Given the description of an element on the screen output the (x, y) to click on. 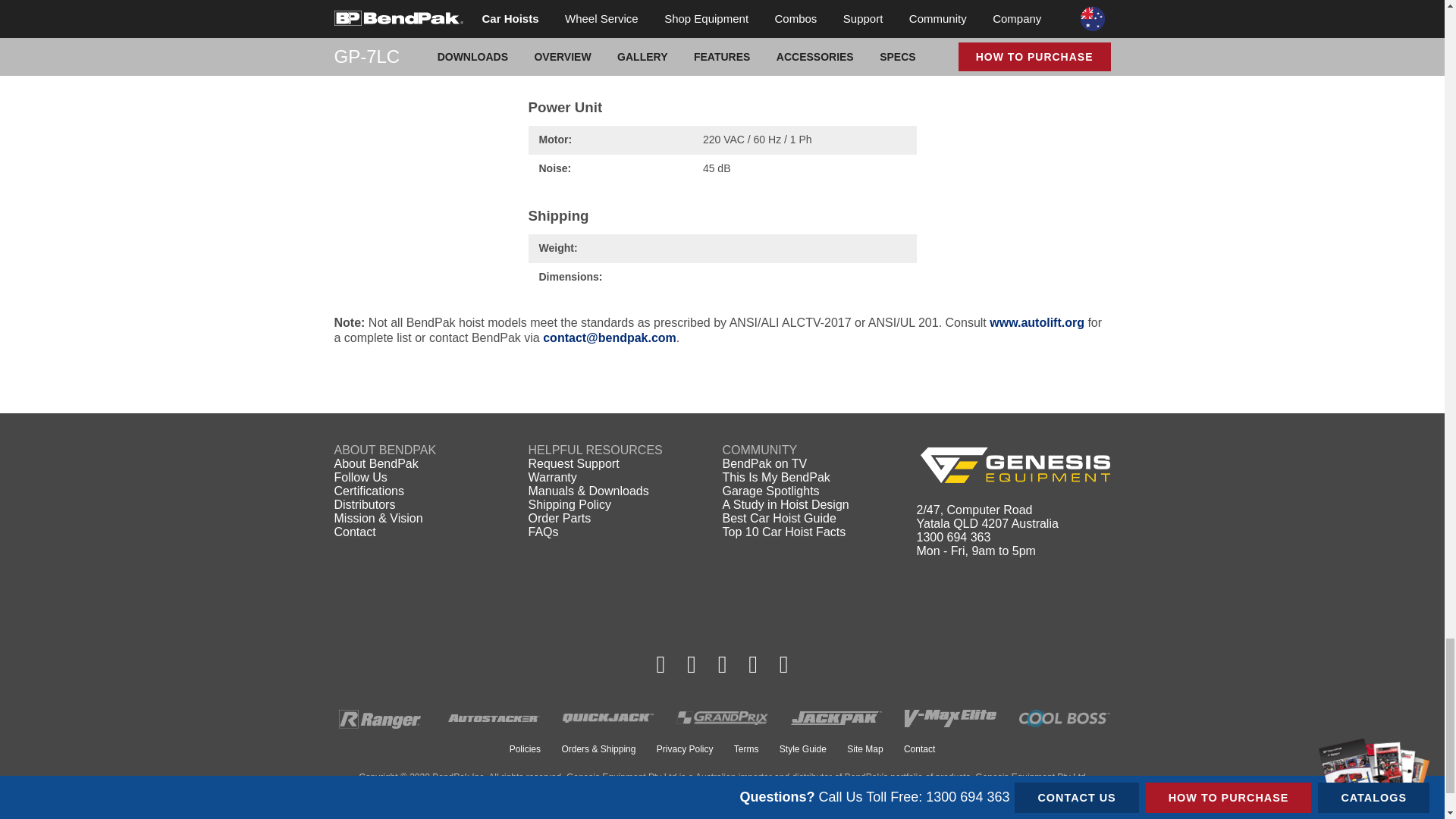
Follow BendPak on YouTube (753, 664)
Follow BendPak on Facebook (660, 664)
BendPak Blog (783, 664)
Follow BendPak on Twitter (722, 664)
